Given the description of an element on the screen output the (x, y) to click on. 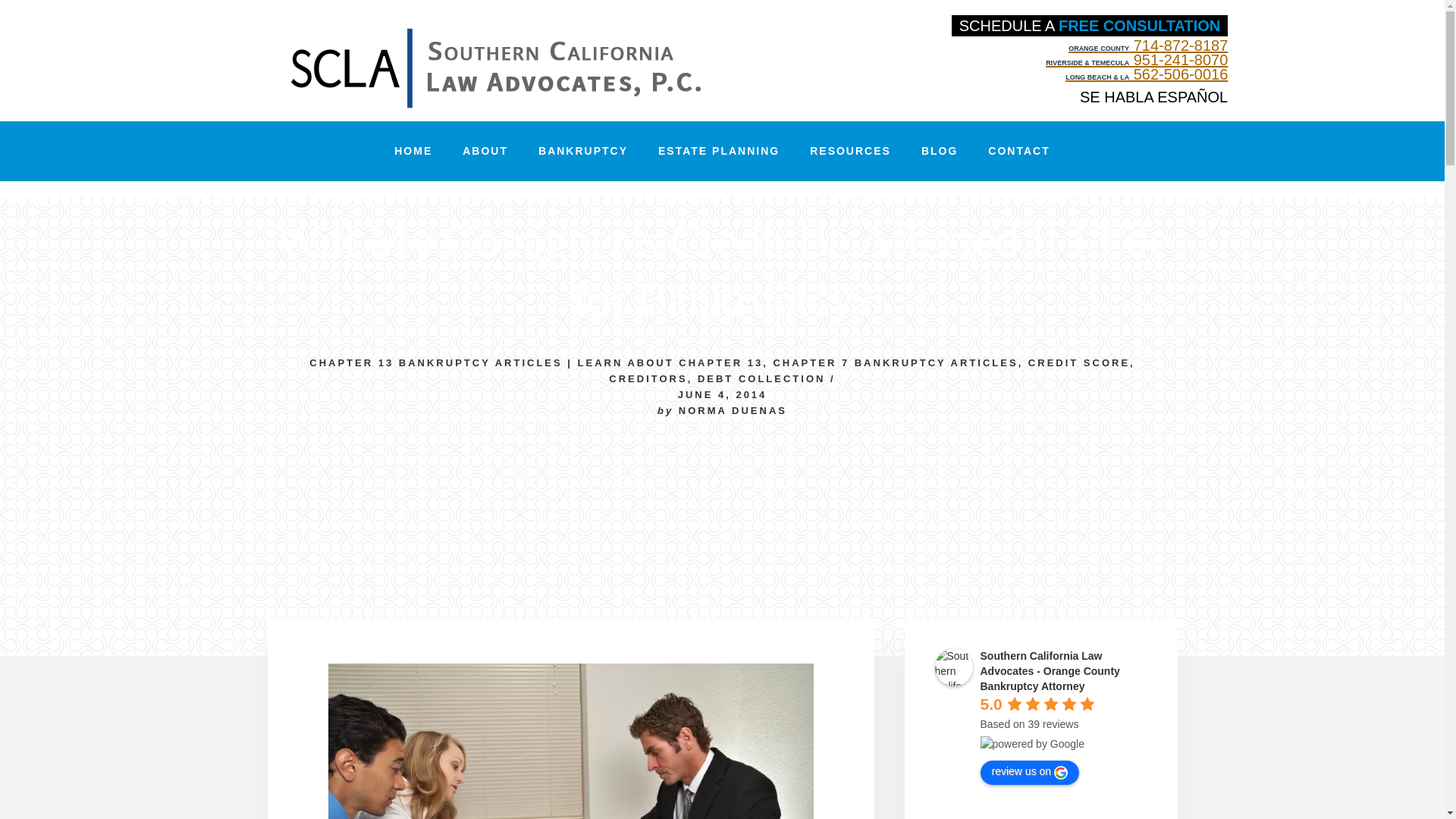
CREDIT SCORE (1078, 362)
HOME (412, 150)
CHAPTER 7 BANKRUPTCY ARTICLES (895, 362)
ABOUT (484, 150)
review us on (1028, 772)
DEBT COLLECTION (761, 378)
BLOG (938, 150)
NORMA DUENAS (732, 410)
CREDITORS (647, 378)
ESTATE PLANNING (718, 150)
BANKRUPTCY (582, 150)
CONTACT (1018, 150)
powered by Google (1031, 743)
